Given the description of an element on the screen output the (x, y) to click on. 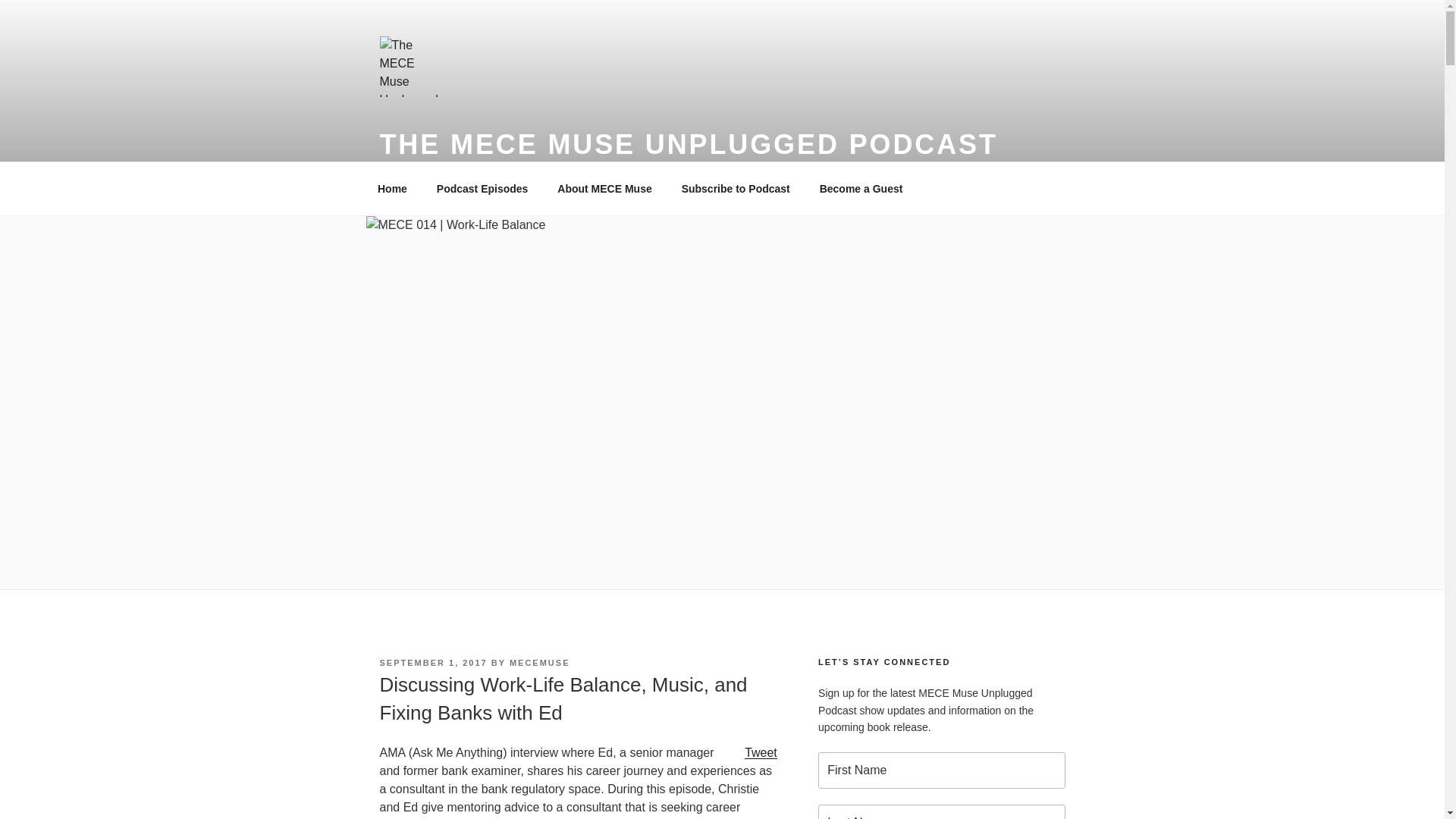
About MECE Muse (604, 188)
Home (392, 188)
Podcast Episodes (482, 188)
MECEMUSE (539, 662)
THE MECE MUSE UNPLUGGED PODCAST (687, 143)
SEPTEMBER 1, 2017 (432, 662)
Tweet (760, 752)
Become a Guest (860, 188)
Subscribe to Podcast (735, 188)
